Given the description of an element on the screen output the (x, y) to click on. 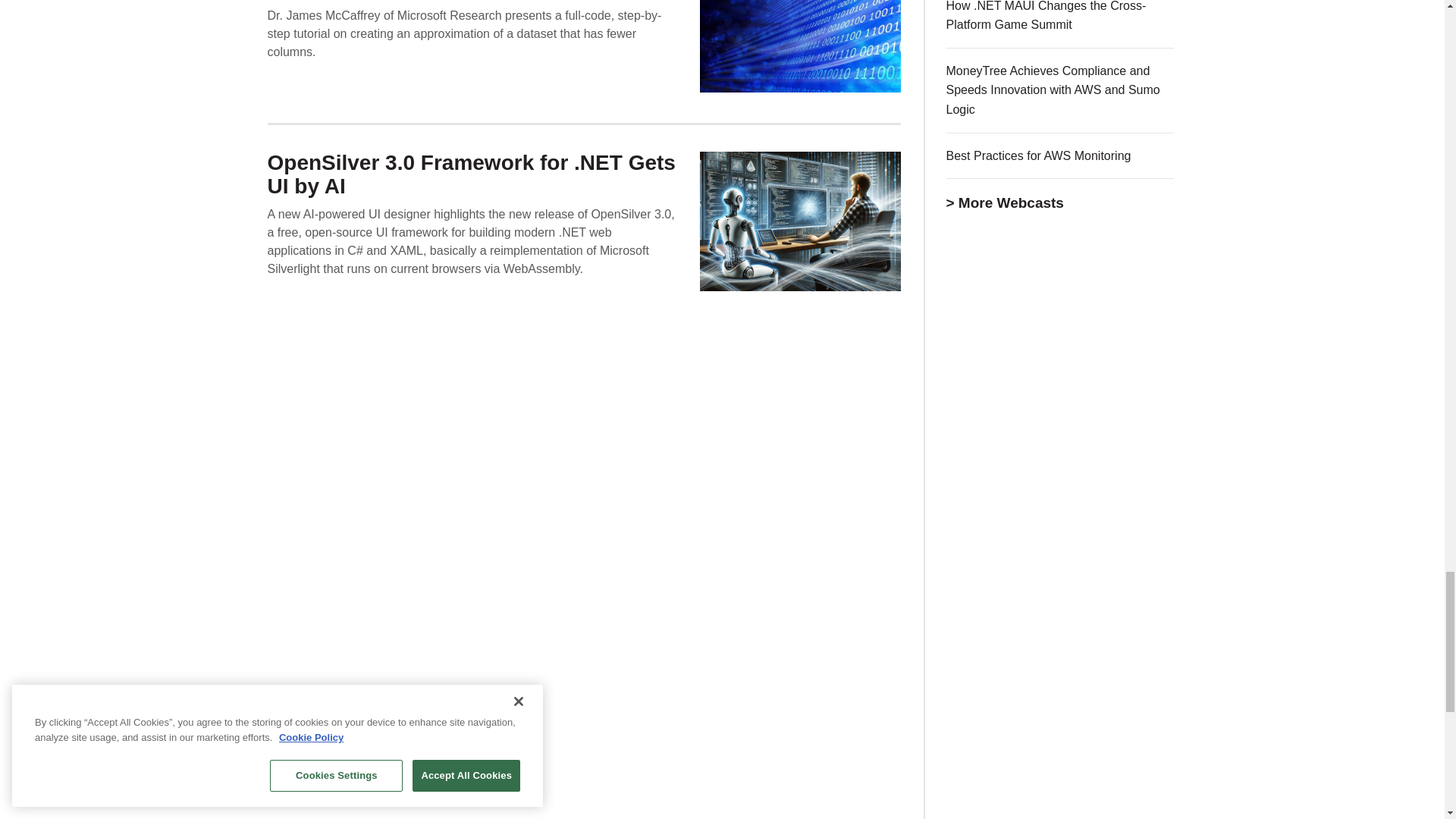
3rd party ad content (1059, 360)
3rd party ad content (1059, 588)
3rd party ad content (1059, 770)
